Given the description of an element on the screen output the (x, y) to click on. 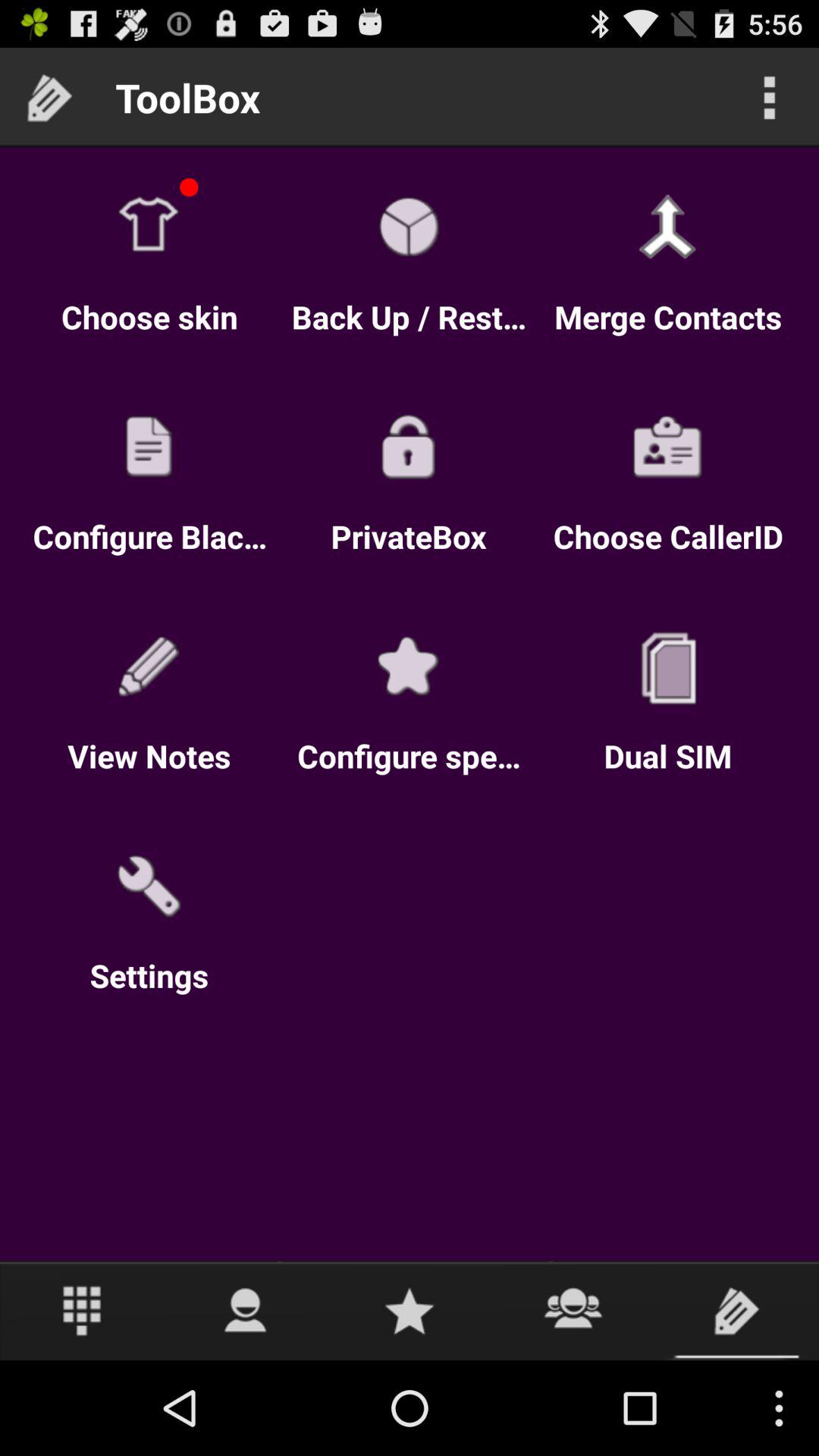
view contacts (573, 1310)
